Given the description of an element on the screen output the (x, y) to click on. 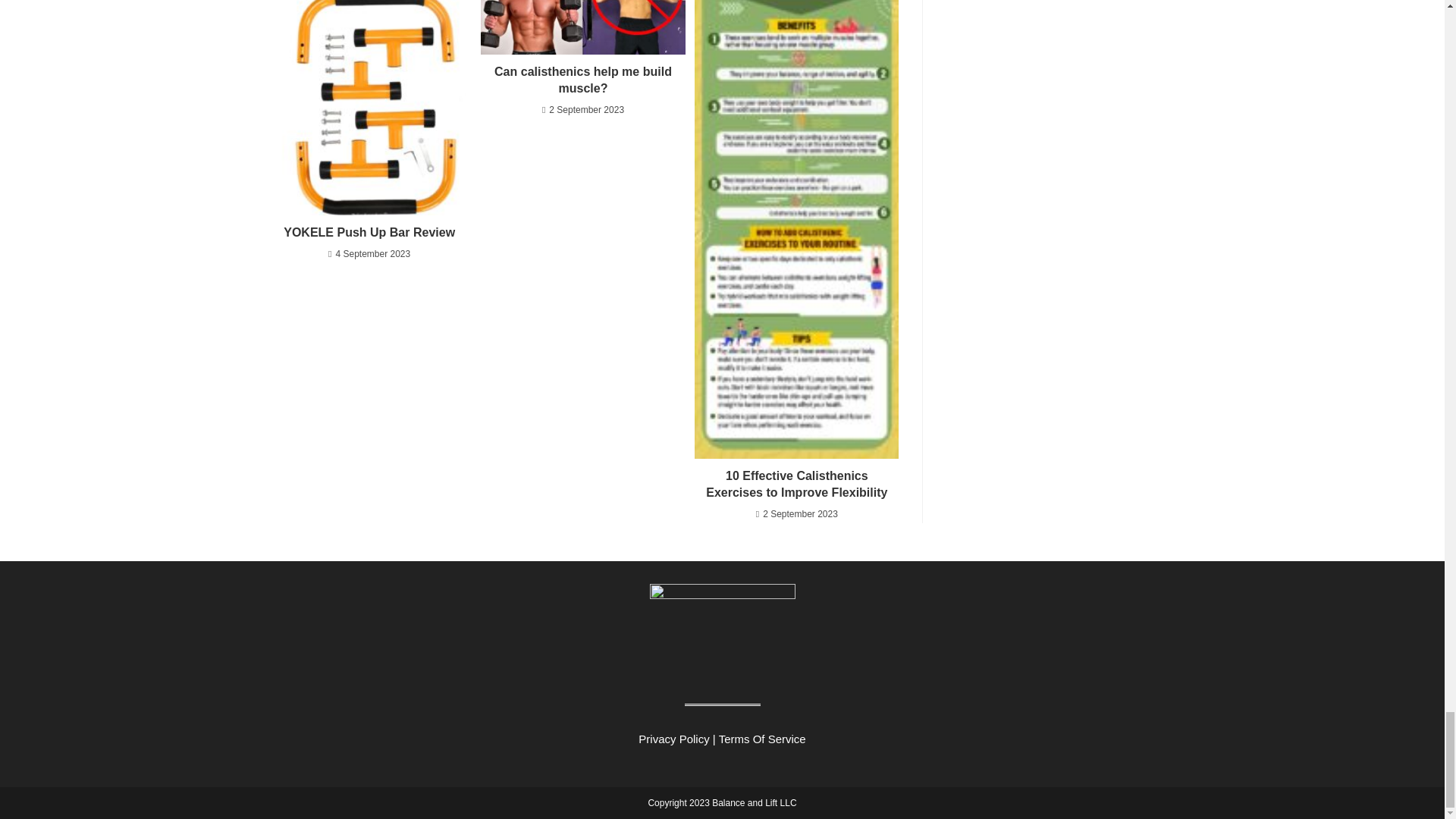
Can calisthenics help me build muscle? (582, 80)
YOKELE Push Up Bar Review (368, 232)
10 Effective Calisthenics Exercises to Improve Flexibility (796, 484)
